Given the description of an element on the screen output the (x, y) to click on. 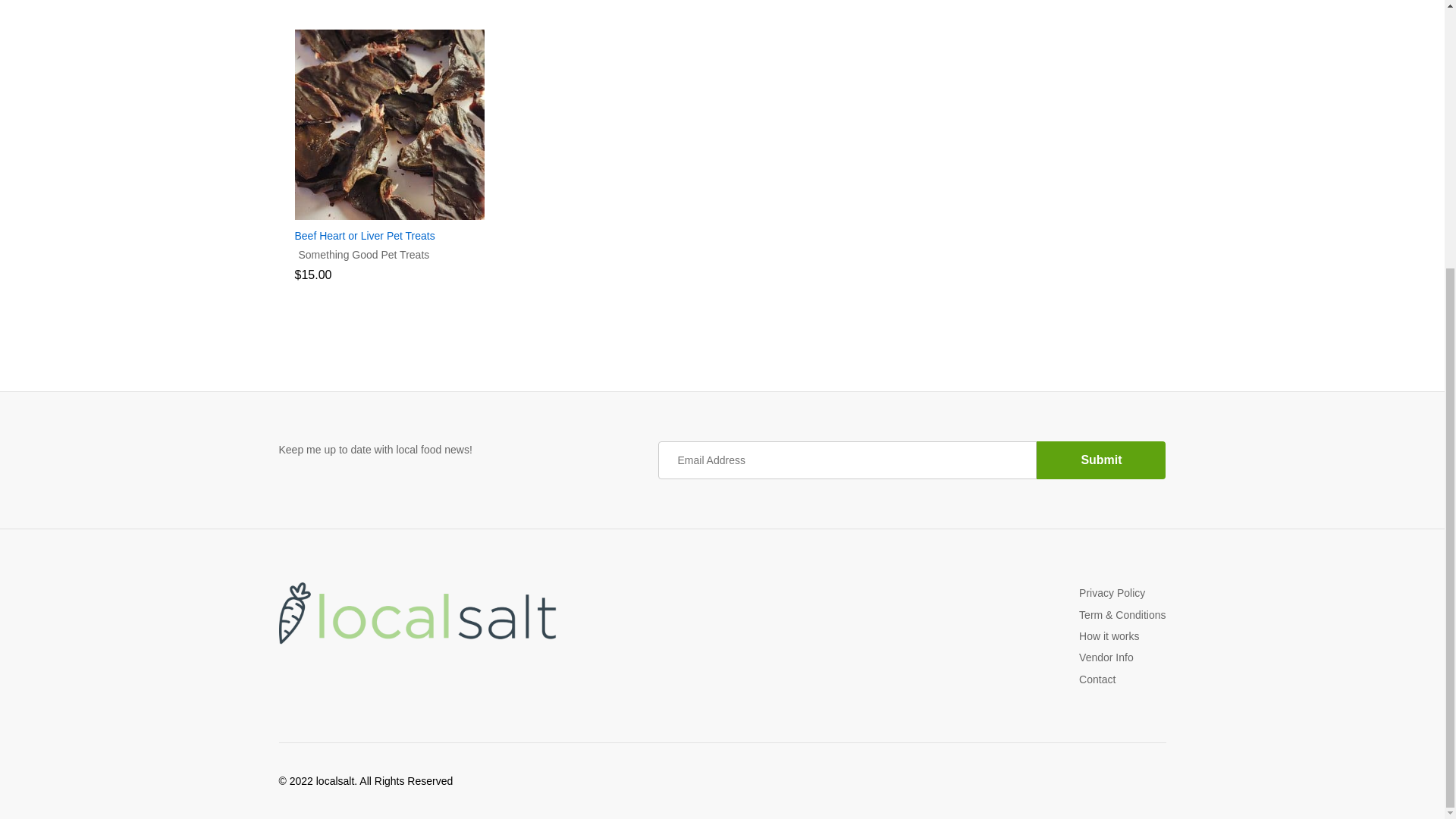
Submit (1101, 460)
